Given the description of an element on the screen output the (x, y) to click on. 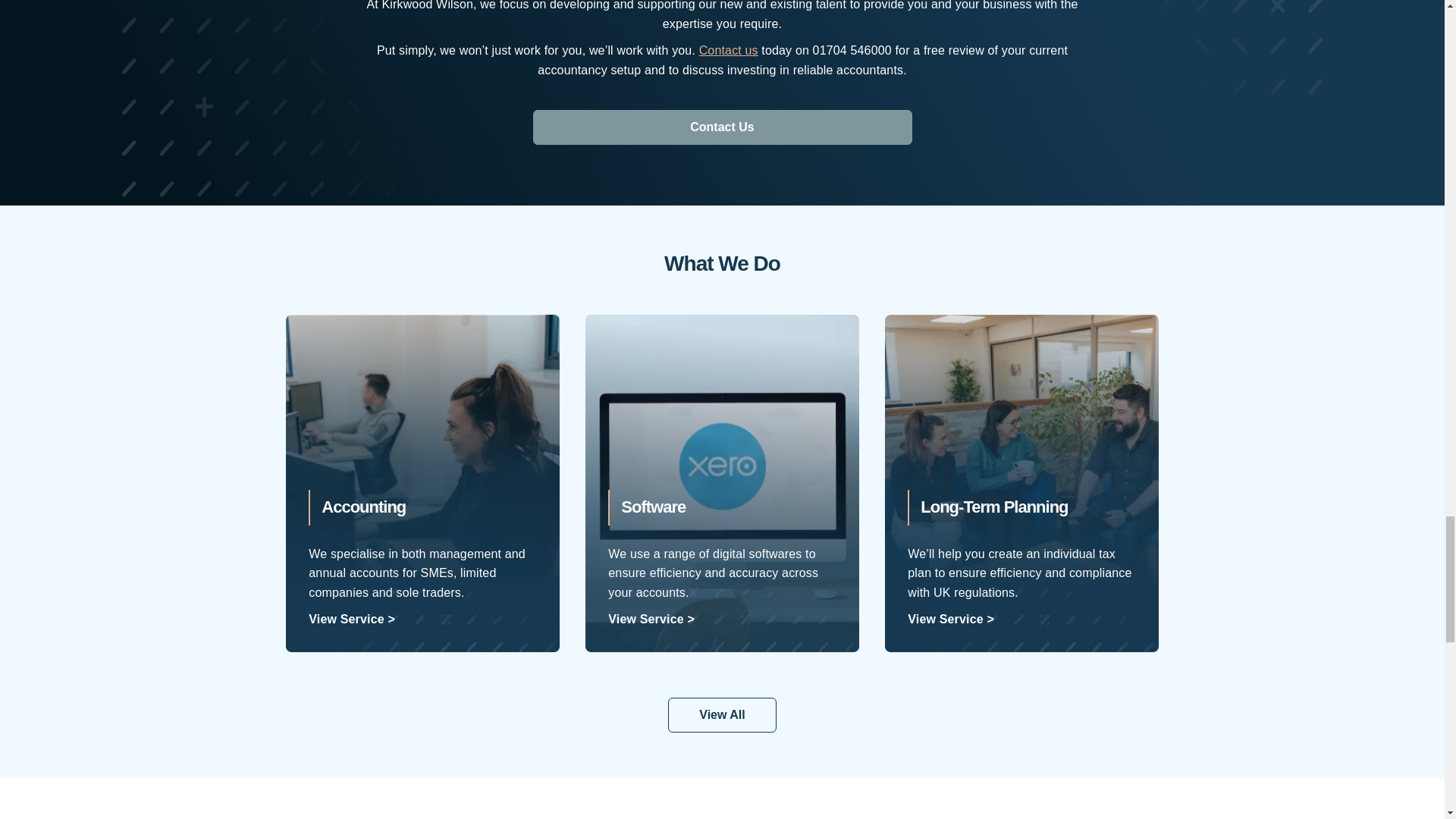
Contact us (728, 50)
Contact Us (721, 126)
View All (722, 714)
